Given the description of an element on the screen output the (x, y) to click on. 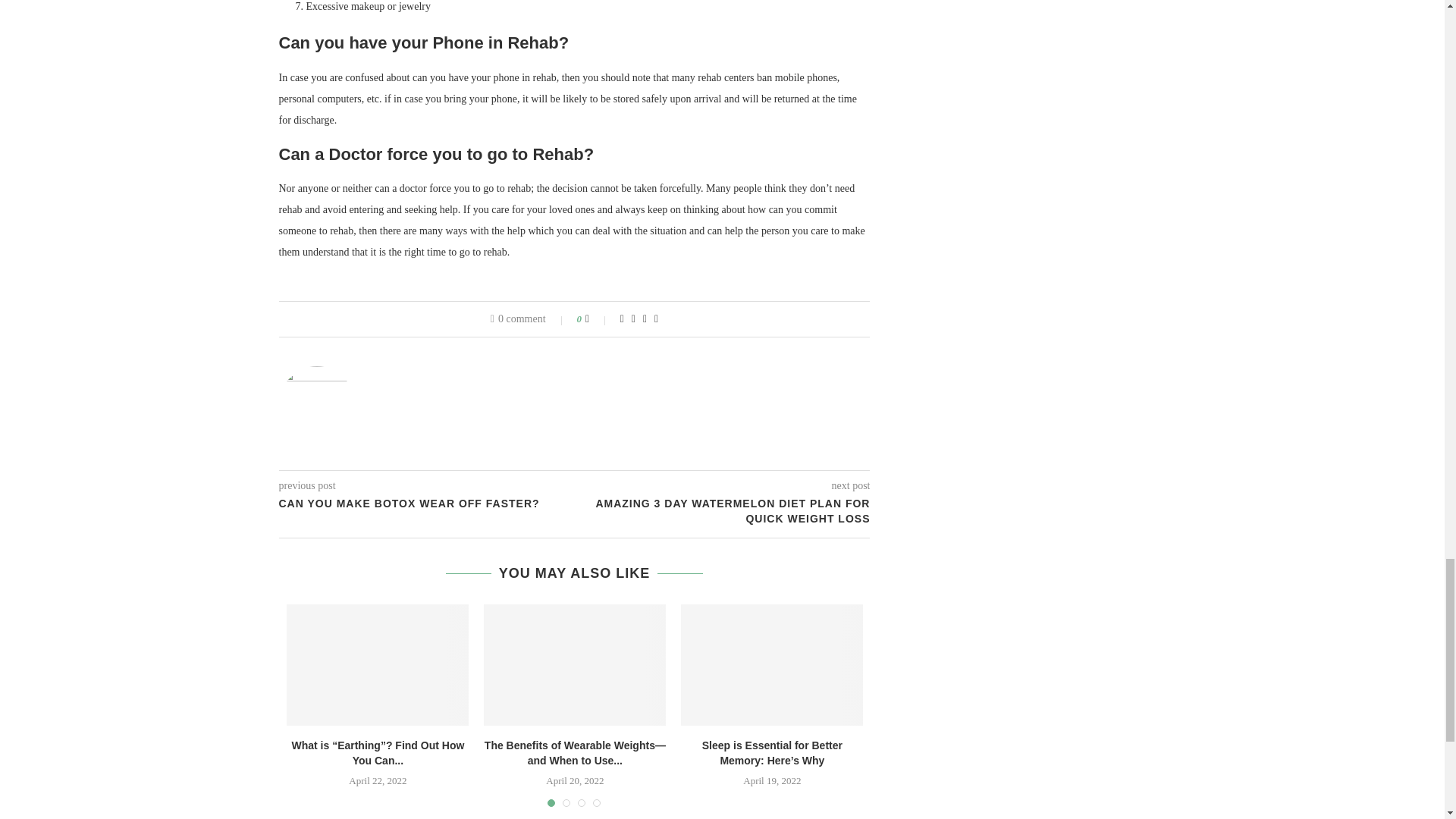
CAN YOU MAKE BOTOX WEAR OFF FASTER? (427, 503)
Like (597, 318)
AMAZING 3 DAY WATERMELON DIET PLAN FOR QUICK WEIGHT LOSS (722, 511)
